Given the description of an element on the screen output the (x, y) to click on. 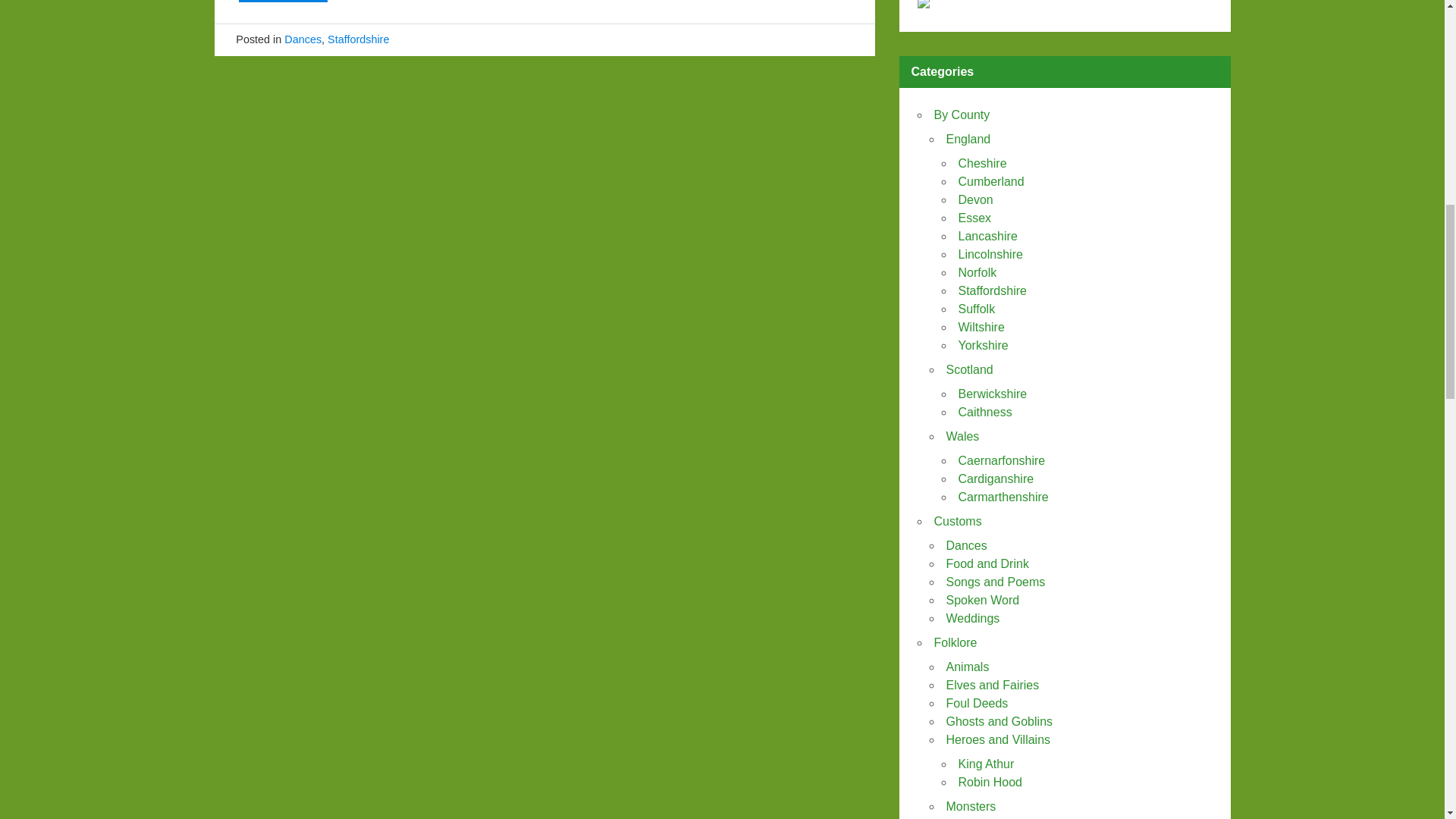
Lancashire (987, 236)
England (968, 138)
By County (962, 114)
Norfolk (977, 272)
Wiltshire (981, 327)
Suffolk (976, 308)
Wales (962, 436)
Cumberland (991, 181)
Lincolnshire (990, 254)
Caithness (984, 411)
